Given the description of an element on the screen output the (x, y) to click on. 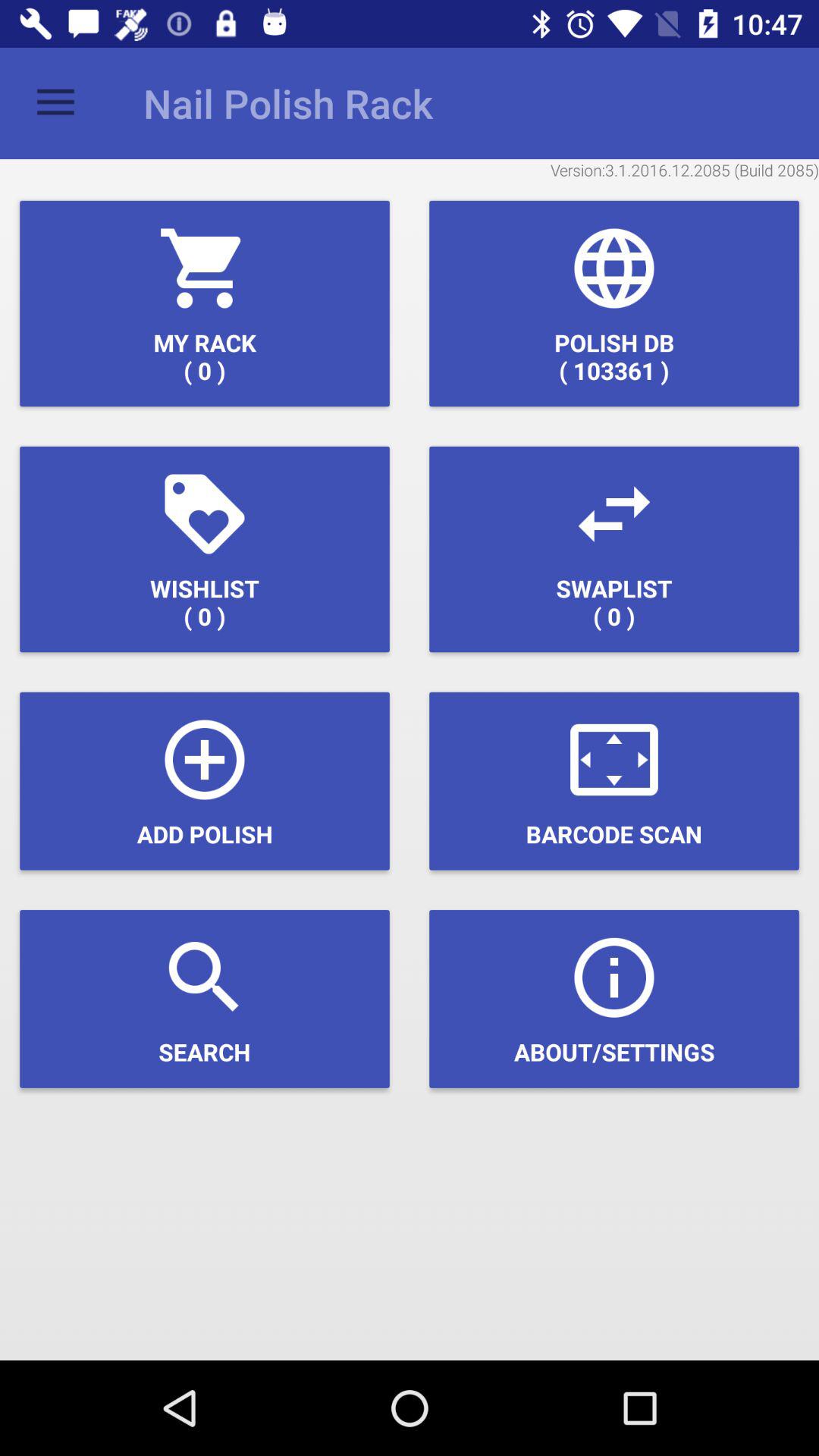
launch icon above add polish icon (204, 549)
